Given the description of an element on the screen output the (x, y) to click on. 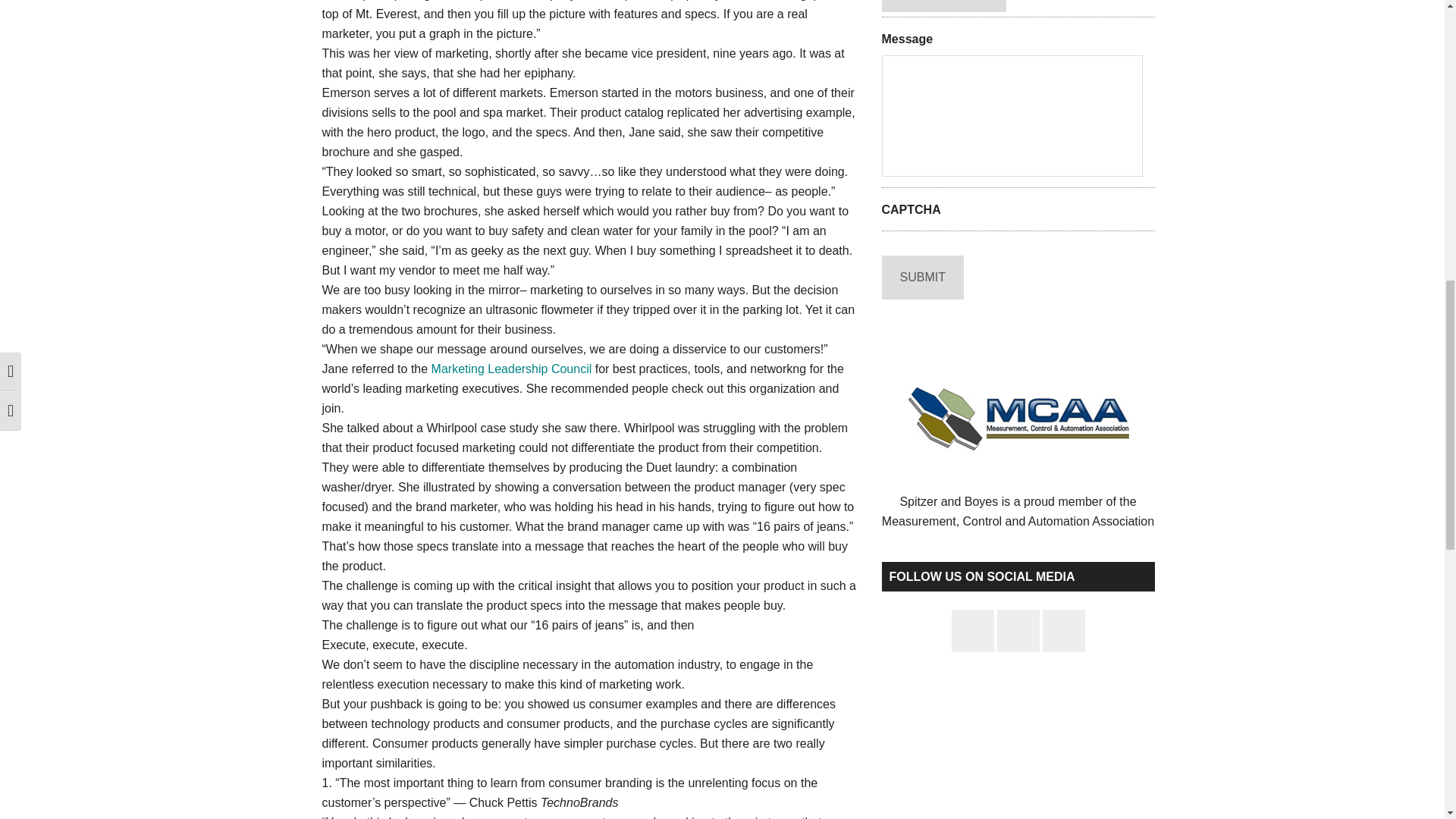
Submit (921, 277)
Marketing Leadership Council (511, 368)
Submit (921, 277)
